Given the description of an element on the screen output the (x, y) to click on. 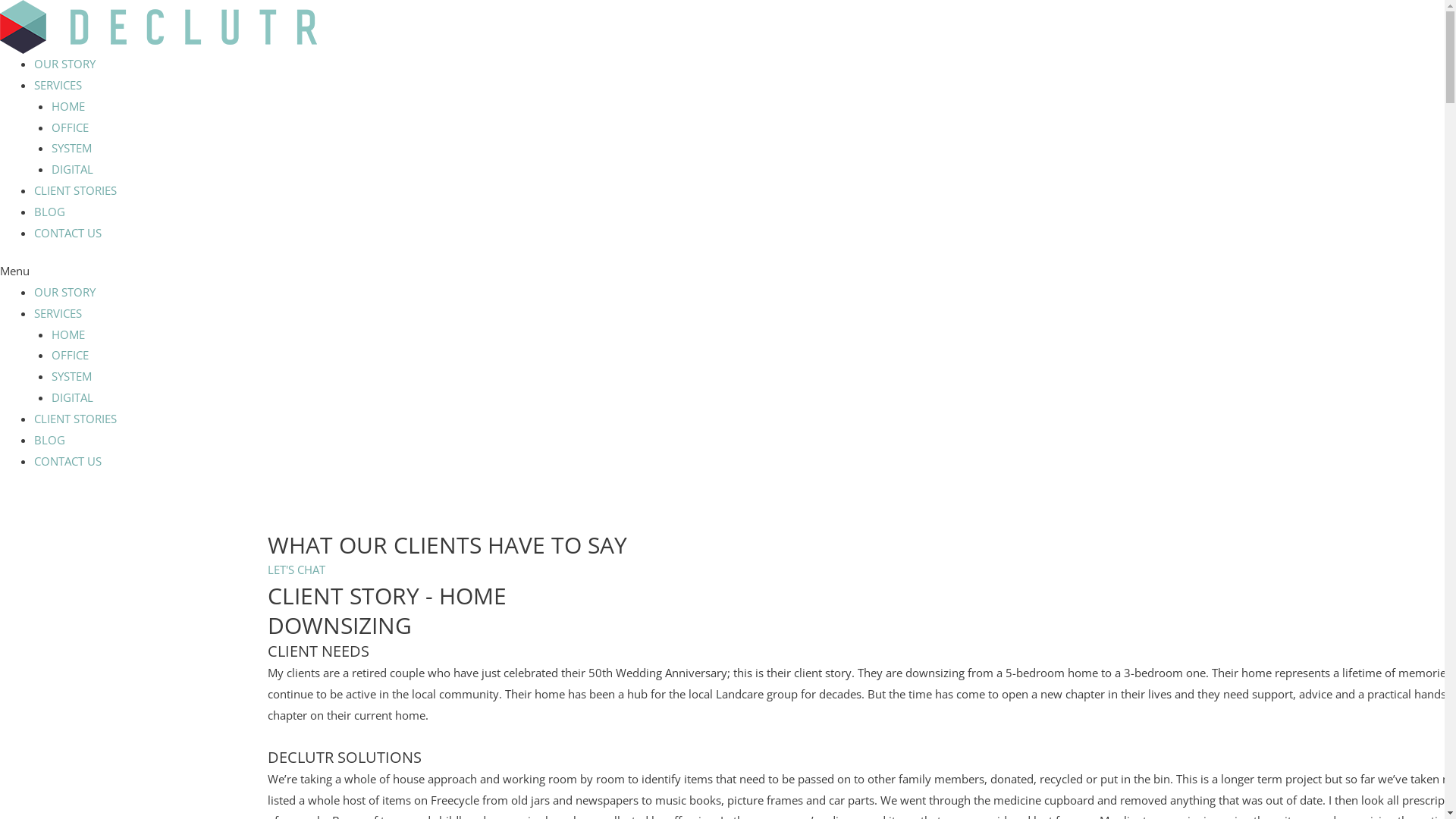
HOME Element type: text (67, 334)
LET'S CHAT Element type: text (295, 569)
DIGITAL Element type: text (72, 396)
CONTACT US Element type: text (67, 460)
SERVICES Element type: text (57, 84)
BLOG Element type: text (49, 439)
CONTACT US Element type: text (67, 232)
BLOG Element type: text (49, 211)
CLIENT STORIES Element type: text (75, 189)
SYSTEM Element type: text (71, 375)
HOME Element type: text (67, 105)
SYSTEM Element type: text (71, 147)
OUR STORY Element type: text (64, 291)
DIGITAL Element type: text (72, 168)
OUR STORY Element type: text (64, 63)
CLIENT STORIES Element type: text (75, 418)
OFFICE Element type: text (69, 126)
OFFICE Element type: text (69, 354)
SERVICES Element type: text (57, 312)
